Given the description of an element on the screen output the (x, y) to click on. 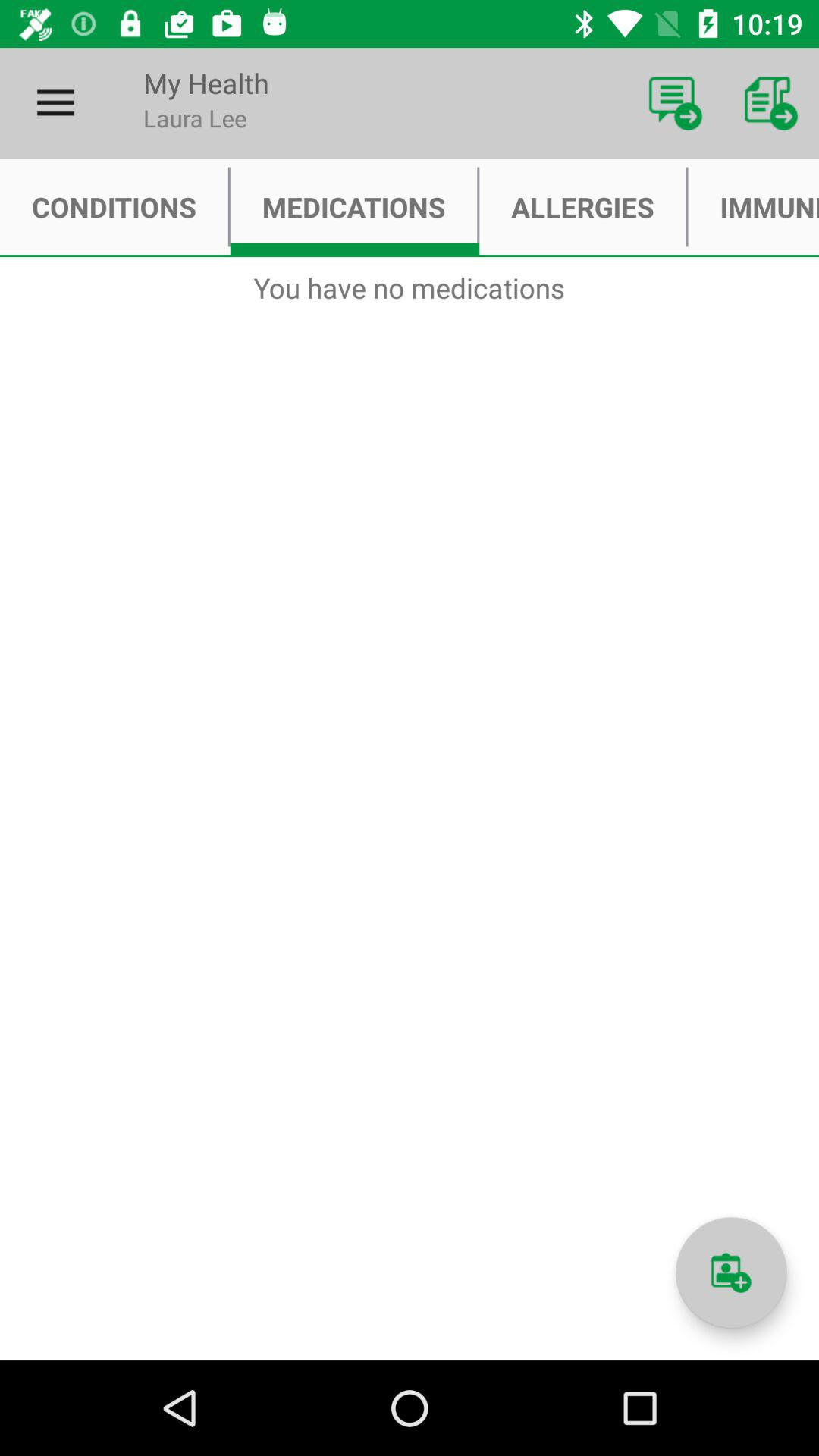
launch the icon above the allergies icon (675, 103)
